Given the description of an element on the screen output the (x, y) to click on. 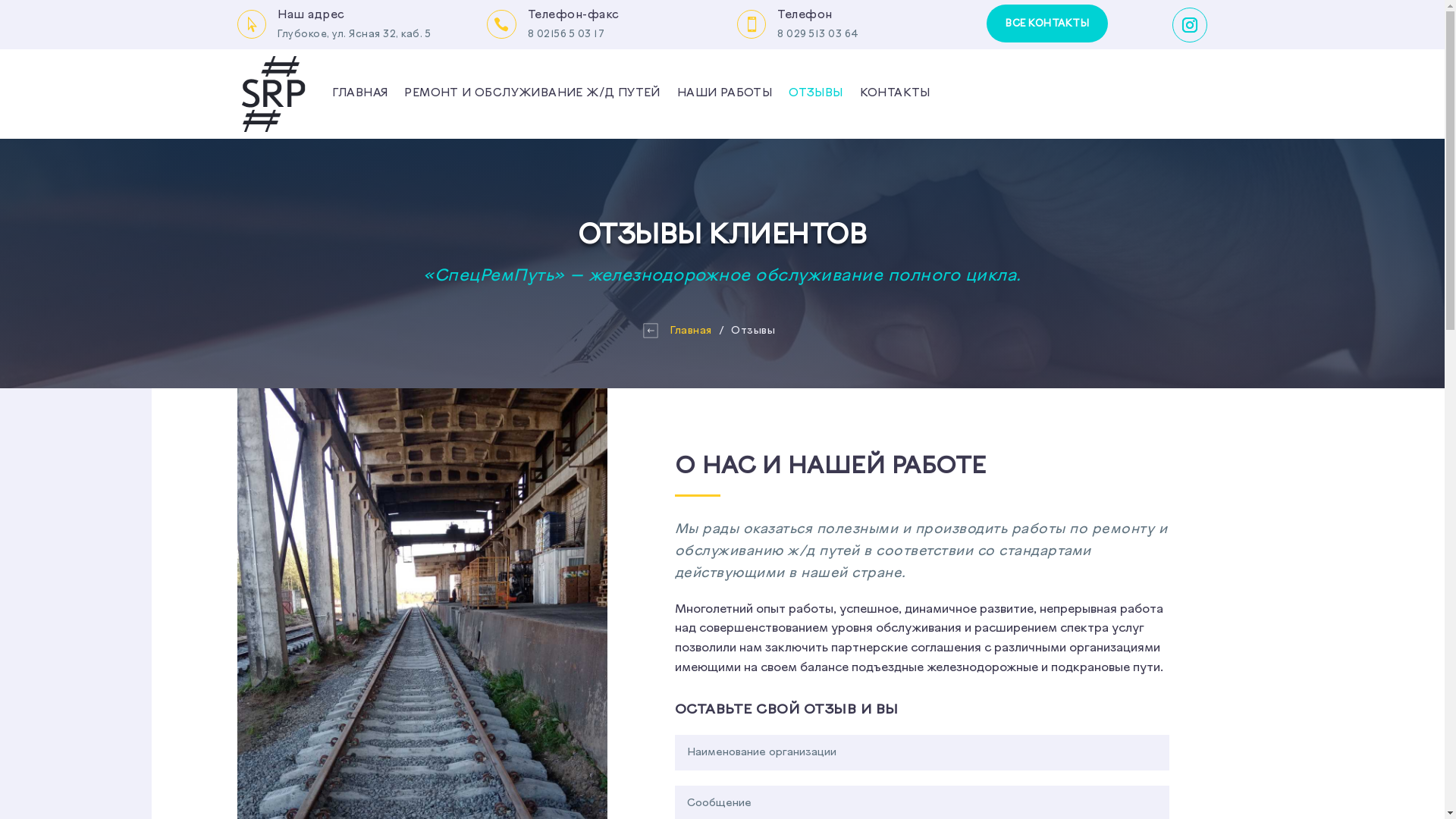
8 029 513 03 64 Element type: text (818, 34)
8 02156 5 03 17 Element type: text (566, 34)
